Given the description of an element on the screen output the (x, y) to click on. 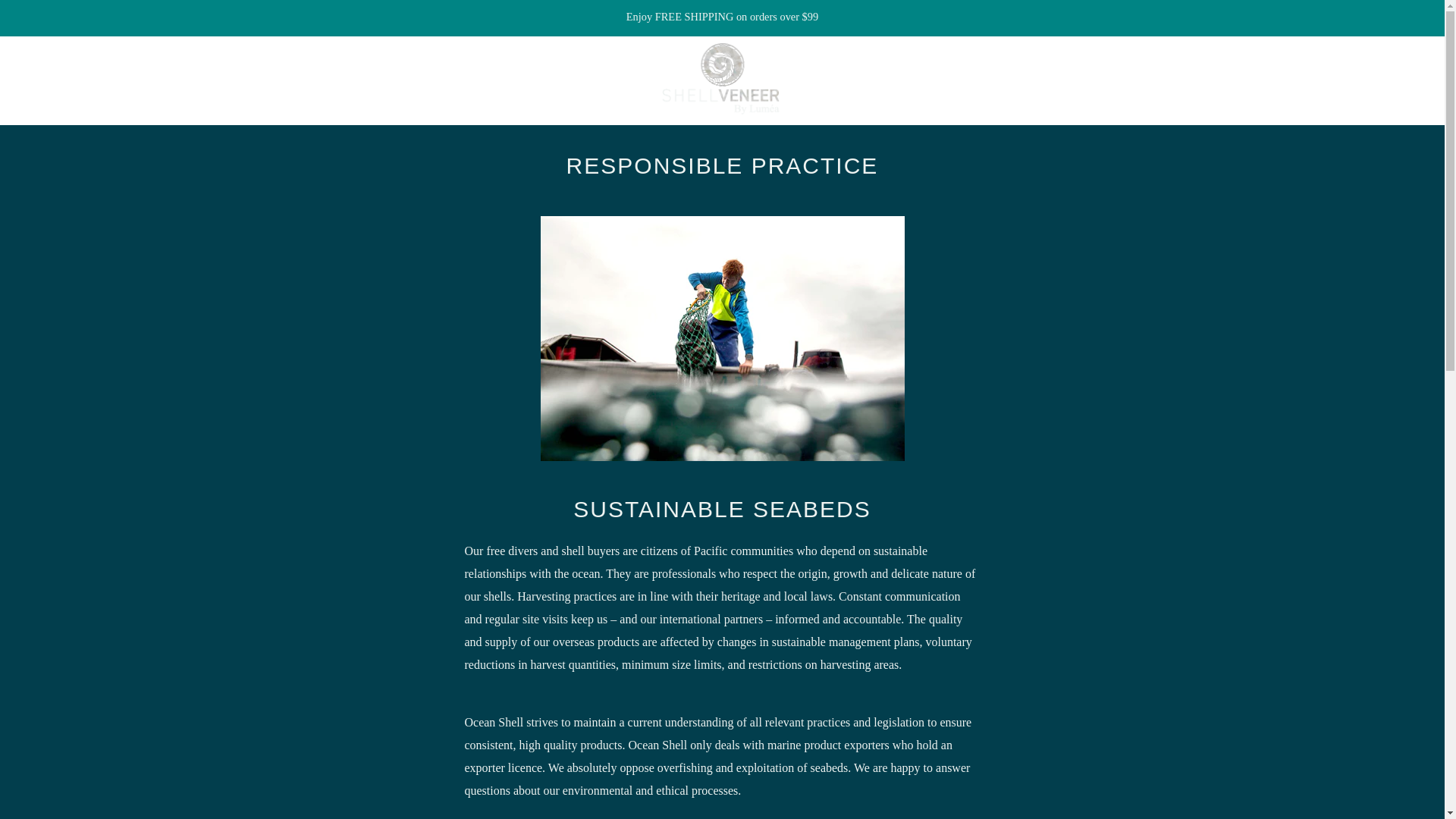
LOG IN (1305, 79)
HOME (40, 79)
ABOUT (256, 79)
SEARCH (1414, 78)
GALLERY (186, 79)
VENEERS (107, 79)
CONTACT (327, 79)
